Given the description of an element on the screen output the (x, y) to click on. 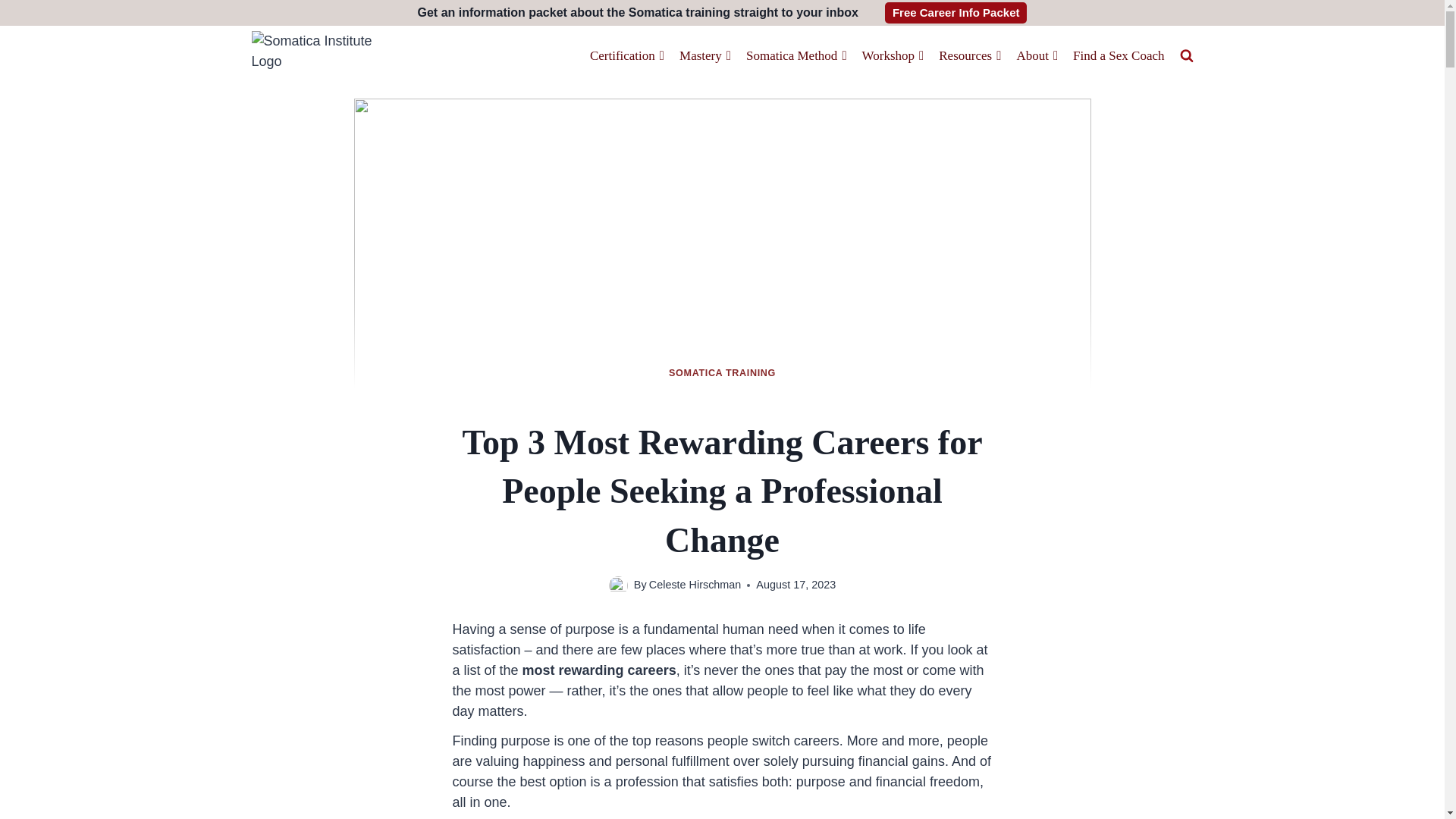
Mastery (704, 55)
Workshop (892, 55)
Resources (970, 55)
Free Career Info Packet (956, 12)
Somatica Method (796, 55)
Certification (626, 55)
